Given the description of an element on the screen output the (x, y) to click on. 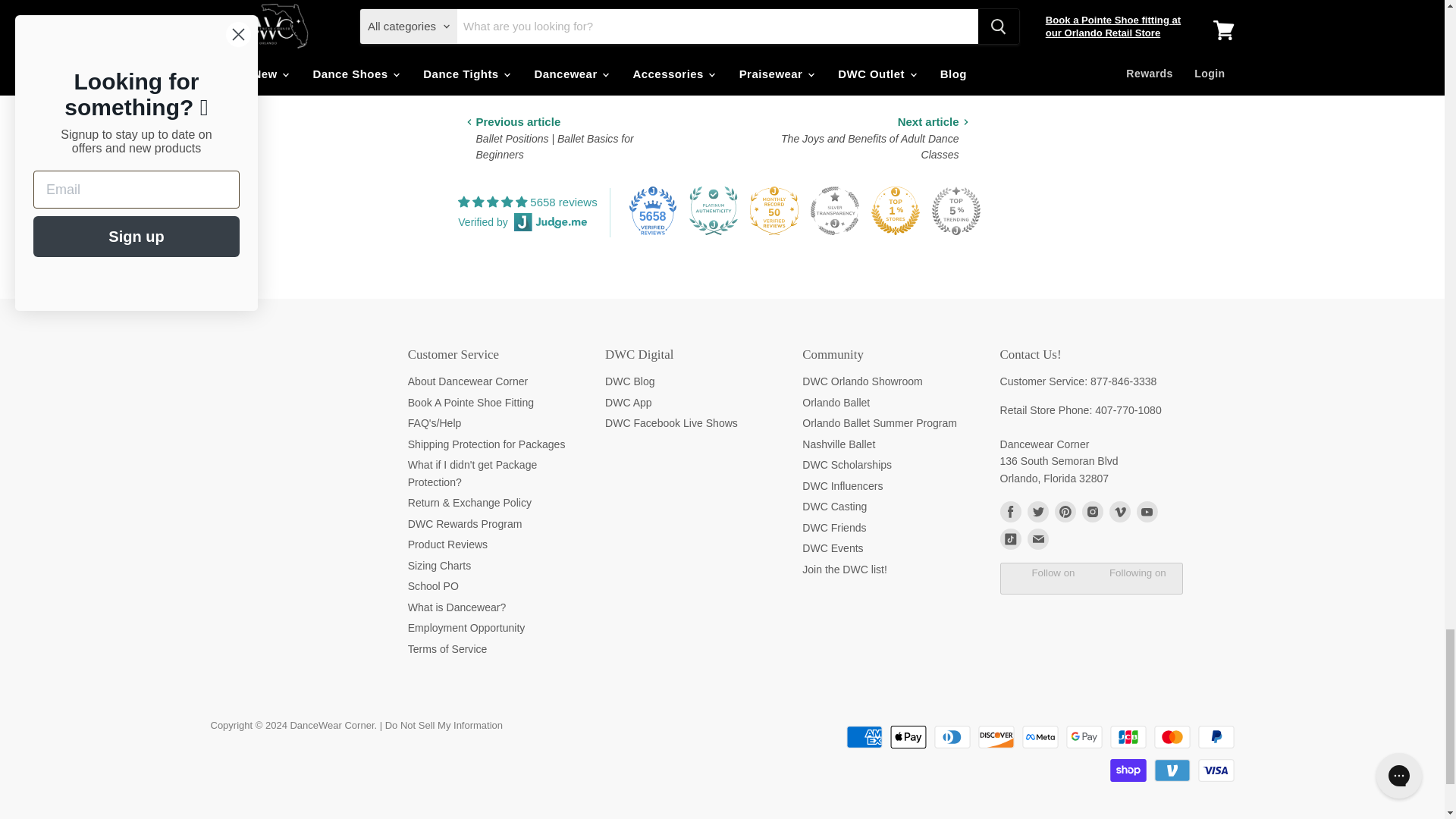
Facebook (1009, 511)
Pinterest (1064, 511)
Instagram (1091, 511)
Twitter (1037, 511)
